Given the description of an element on the screen output the (x, y) to click on. 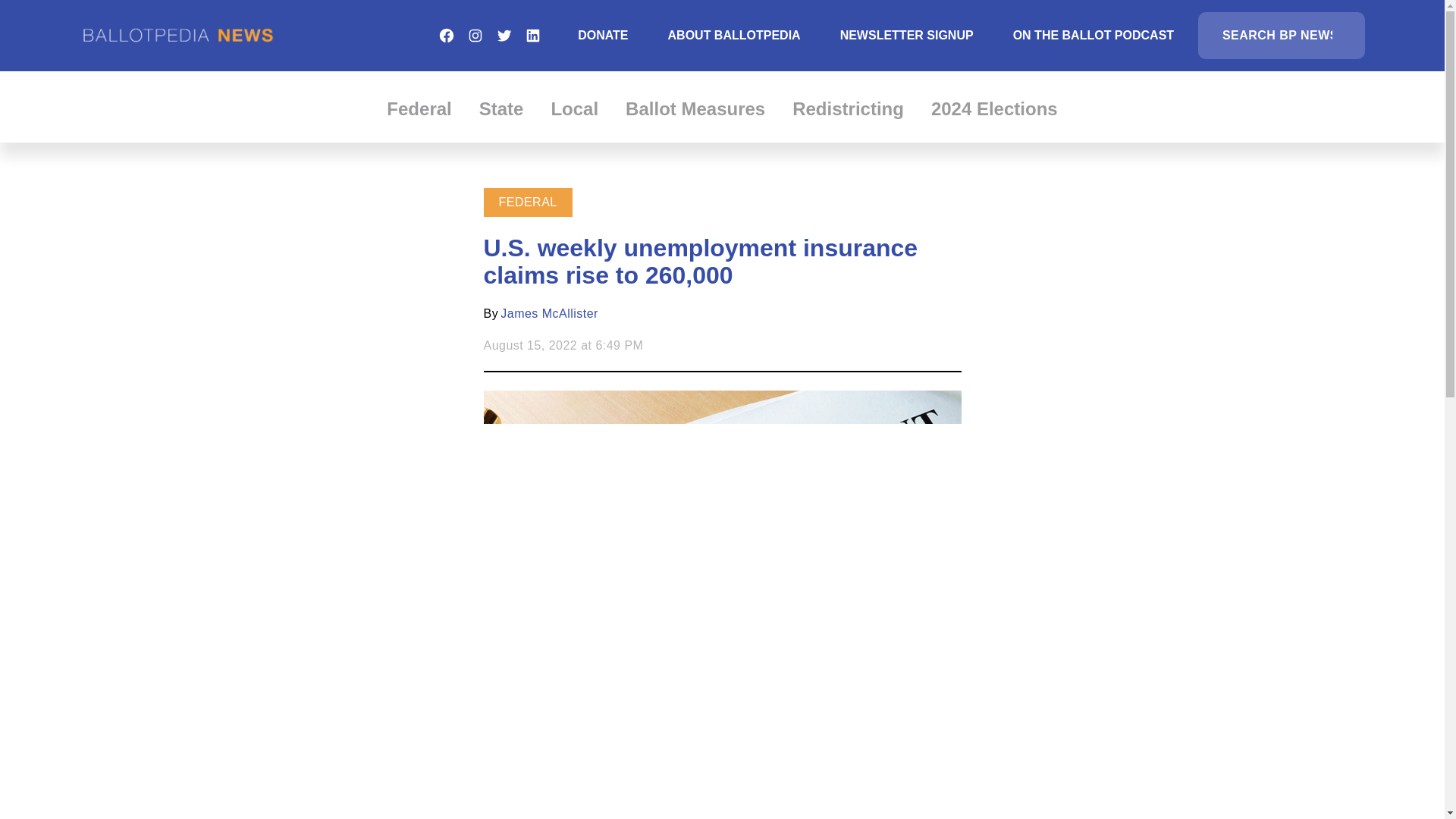
FEDERAL (528, 201)
James McAllister (549, 313)
ABOUT BALLOTPEDIA (734, 35)
Instagram (475, 35)
LinkedIn (532, 35)
DONATE (602, 35)
NEWSLETTER SIGNUP (906, 35)
Federal (419, 108)
Facebook (446, 35)
Local (574, 108)
